Given the description of an element on the screen output the (x, y) to click on. 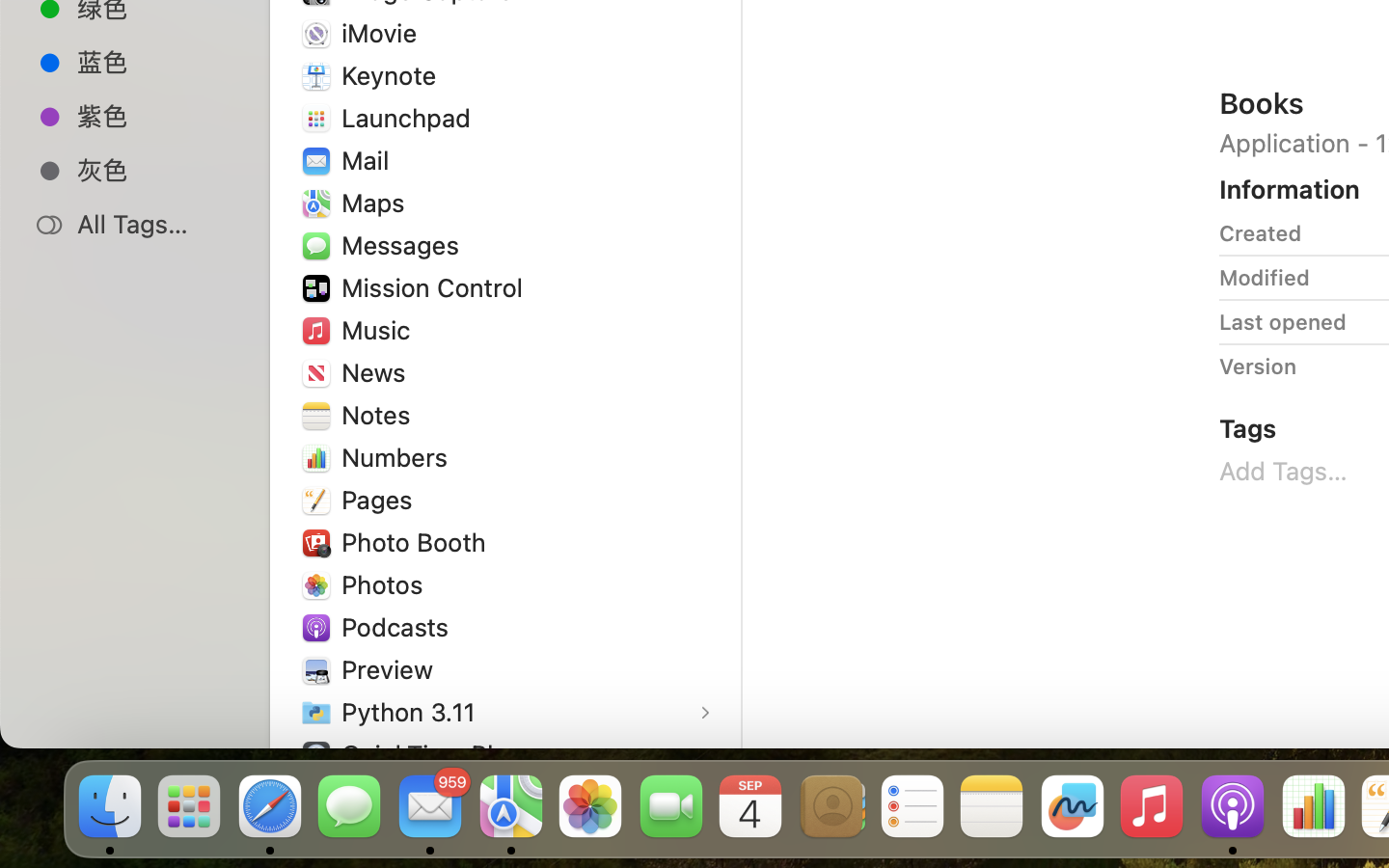
Photo Booth Element type: AXTextField (417, 541)
iMovie Element type: AXTextField (383, 32)
Maps Element type: AXTextField (376, 202)
灰色 Element type: AXStaticText (155, 169)
Notes Element type: AXTextField (379, 414)
